Given the description of an element on the screen output the (x, y) to click on. 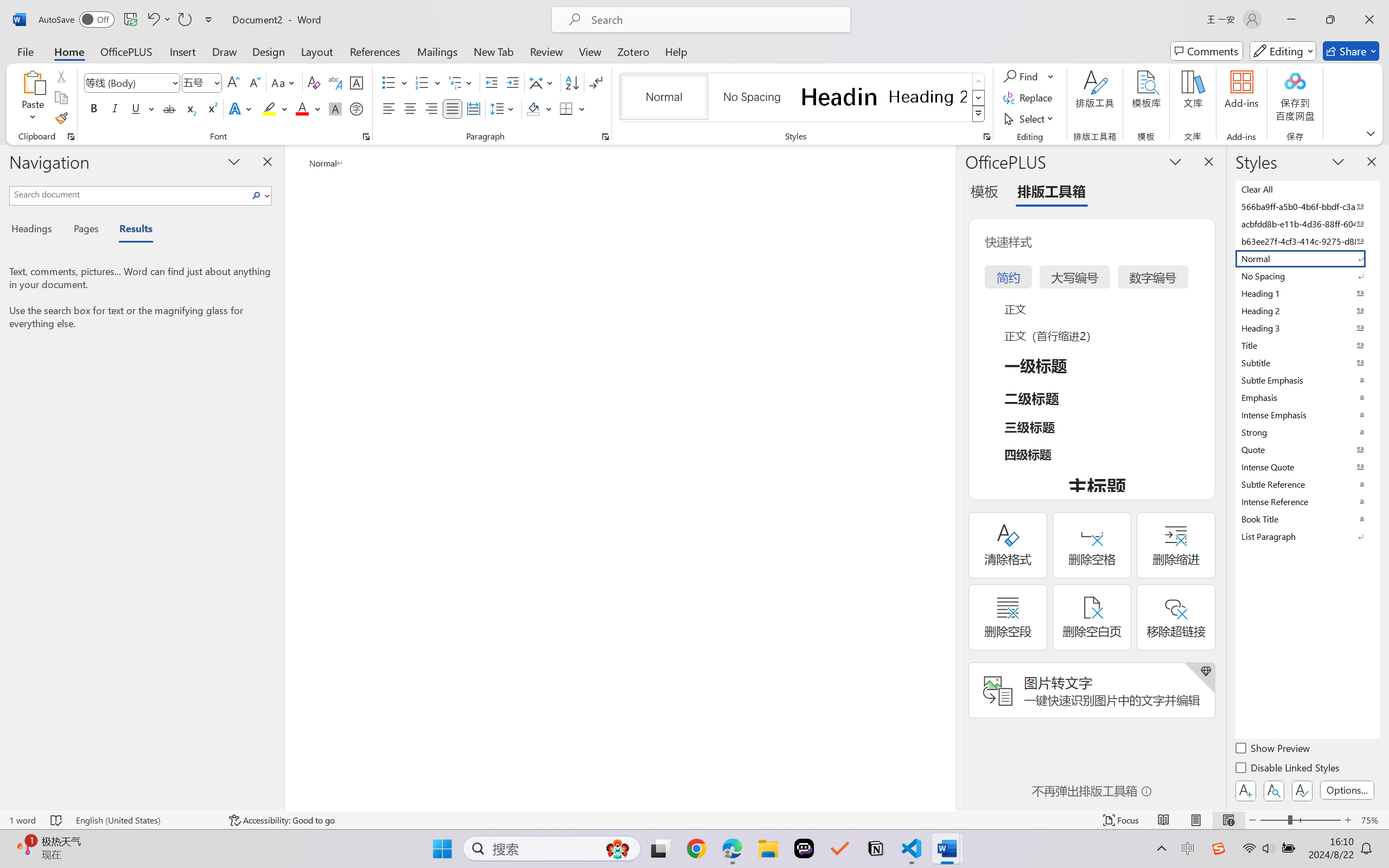
Italic (115, 108)
Clear All (1306, 188)
Pages (85, 229)
Replace... (1029, 97)
Intense Reference (1306, 501)
Increase Indent (512, 82)
Language English (United States) (144, 819)
